Given the description of an element on the screen output the (x, y) to click on. 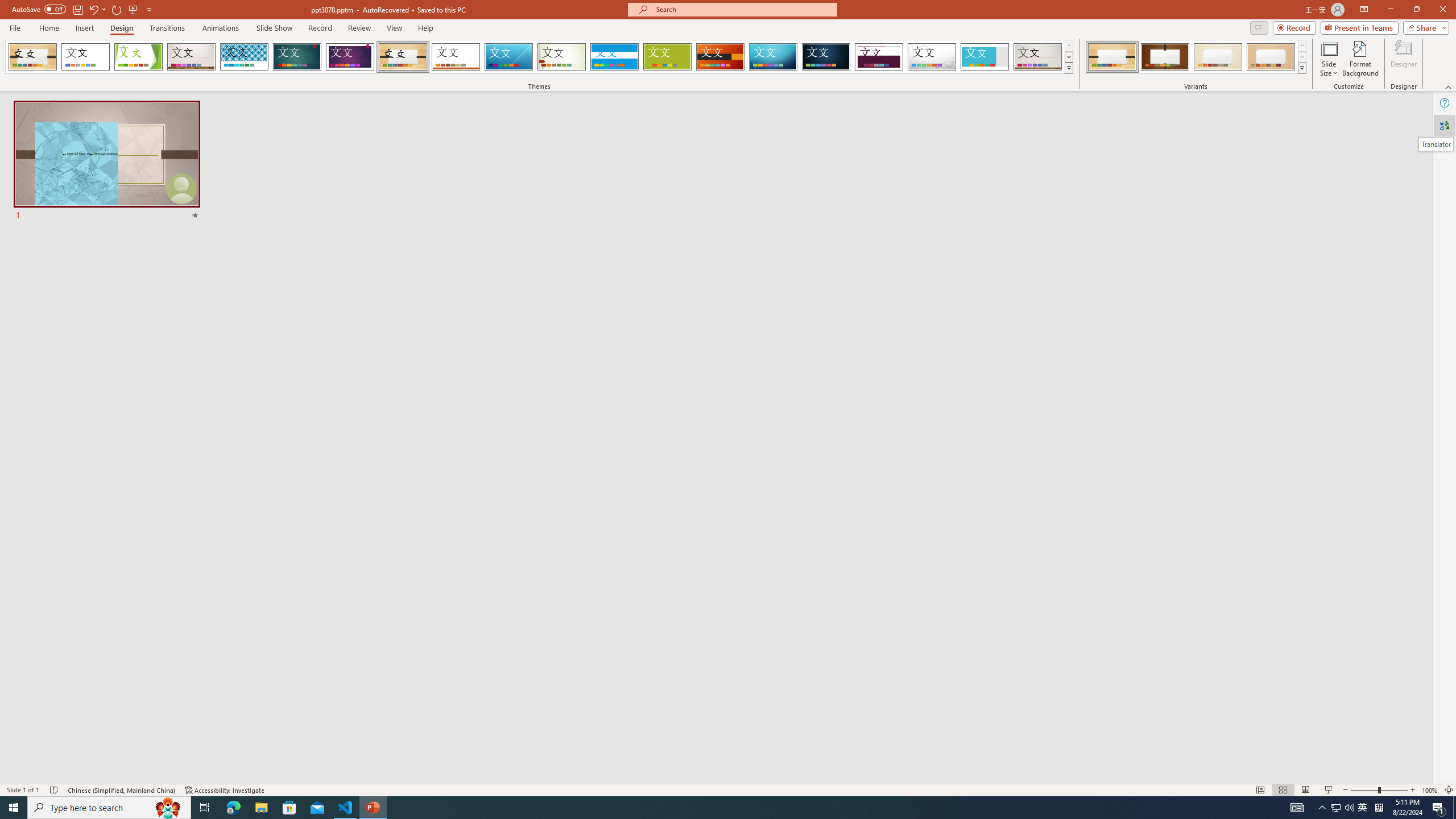
Berlin (720, 56)
Banded (614, 56)
Dividend (879, 56)
Organic Variant 3 (1217, 56)
Organic Variant 2 (1164, 56)
Gallery (1037, 56)
Facet (138, 56)
Organic (403, 56)
